Given the description of an element on the screen output the (x, y) to click on. 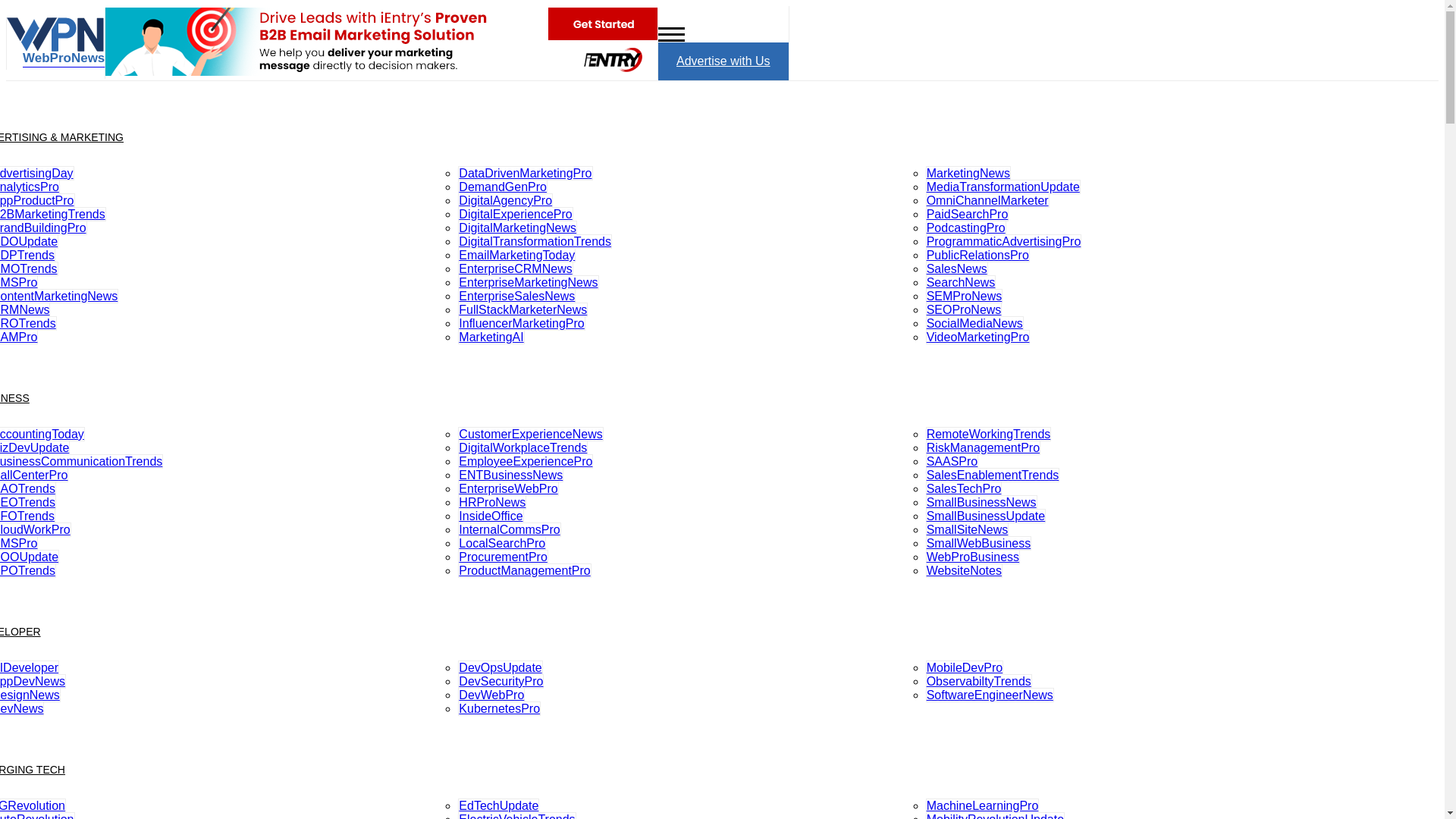
MediaTransformationUpdate (1003, 186)
Advertise with Us (723, 61)
SearchNews (960, 282)
CMOTrends (29, 268)
EnterpriseSalesNews (516, 296)
ContentMarketingNews (58, 296)
AppProductPro (37, 200)
CROTrends (28, 323)
MarketingAI (491, 336)
CMSPro (18, 282)
DigitalAgencyPro (505, 200)
FullStackMarketerNews (523, 309)
InfluencerMarketingPro (521, 323)
SalesNews (957, 268)
DigitalTransformationTrends (534, 241)
